Given the description of an element on the screen output the (x, y) to click on. 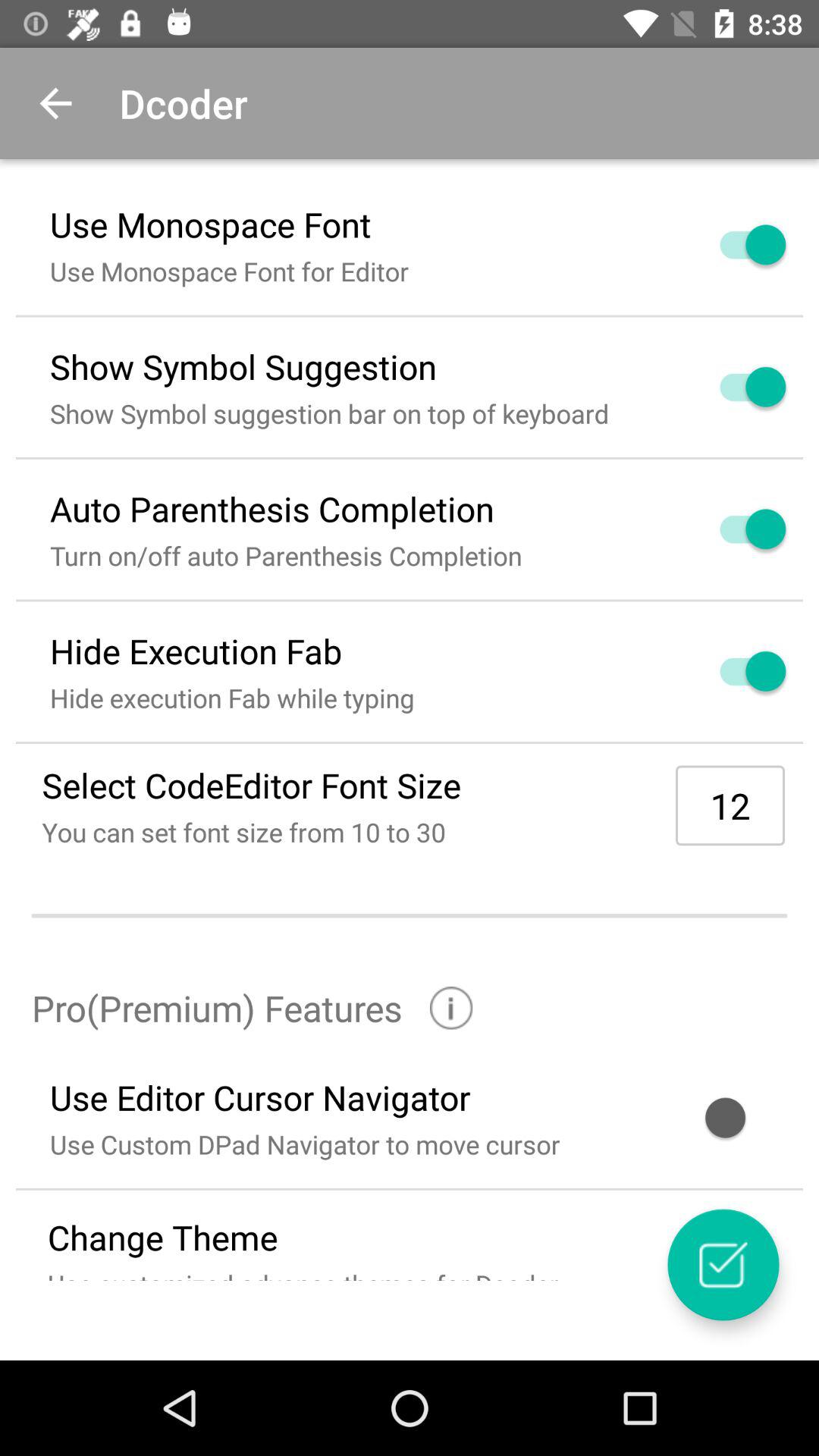
select to on option (734, 244)
